Given the description of an element on the screen output the (x, y) to click on. 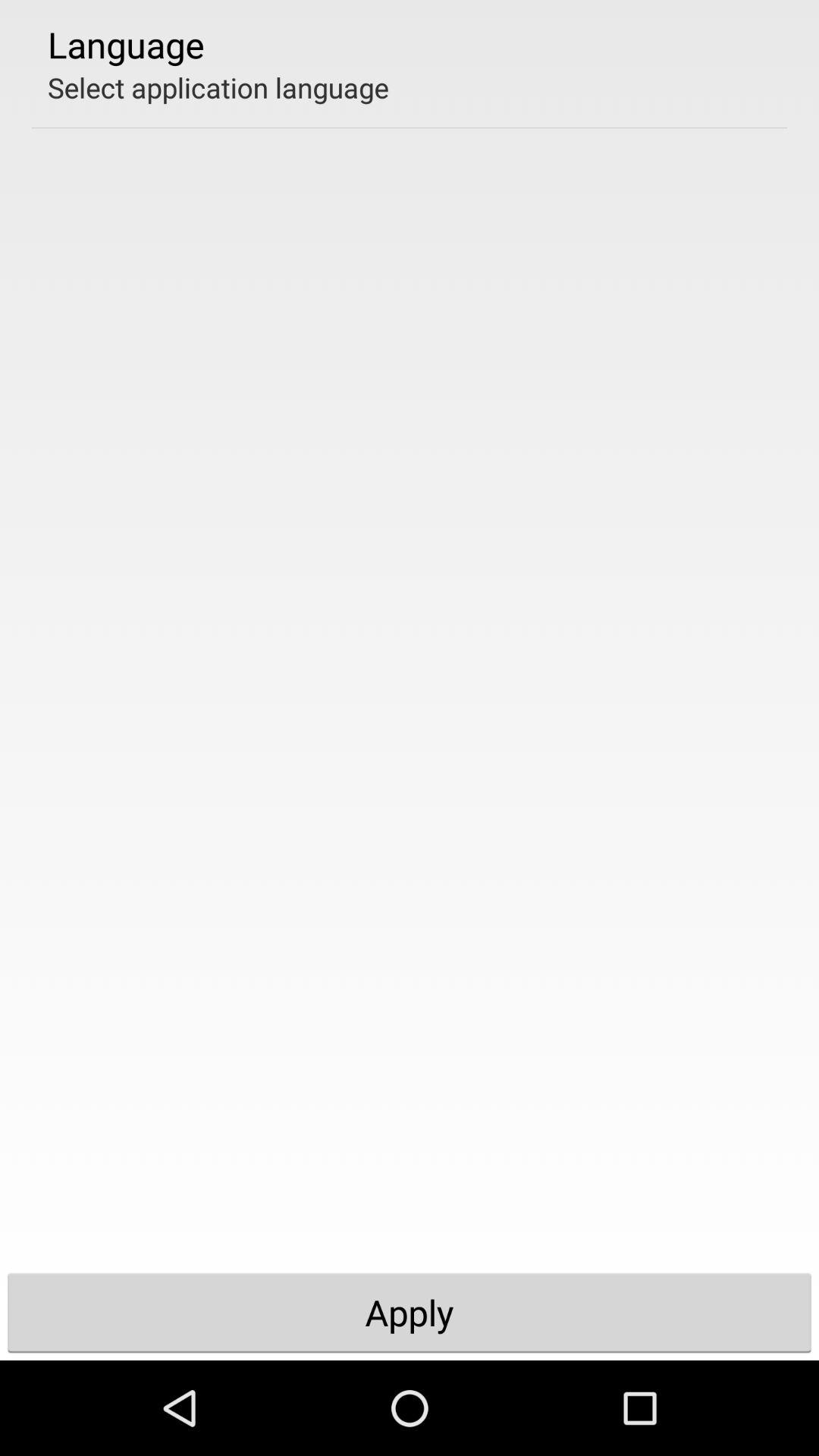
press apply button (409, 1312)
